Given the description of an element on the screen output the (x, y) to click on. 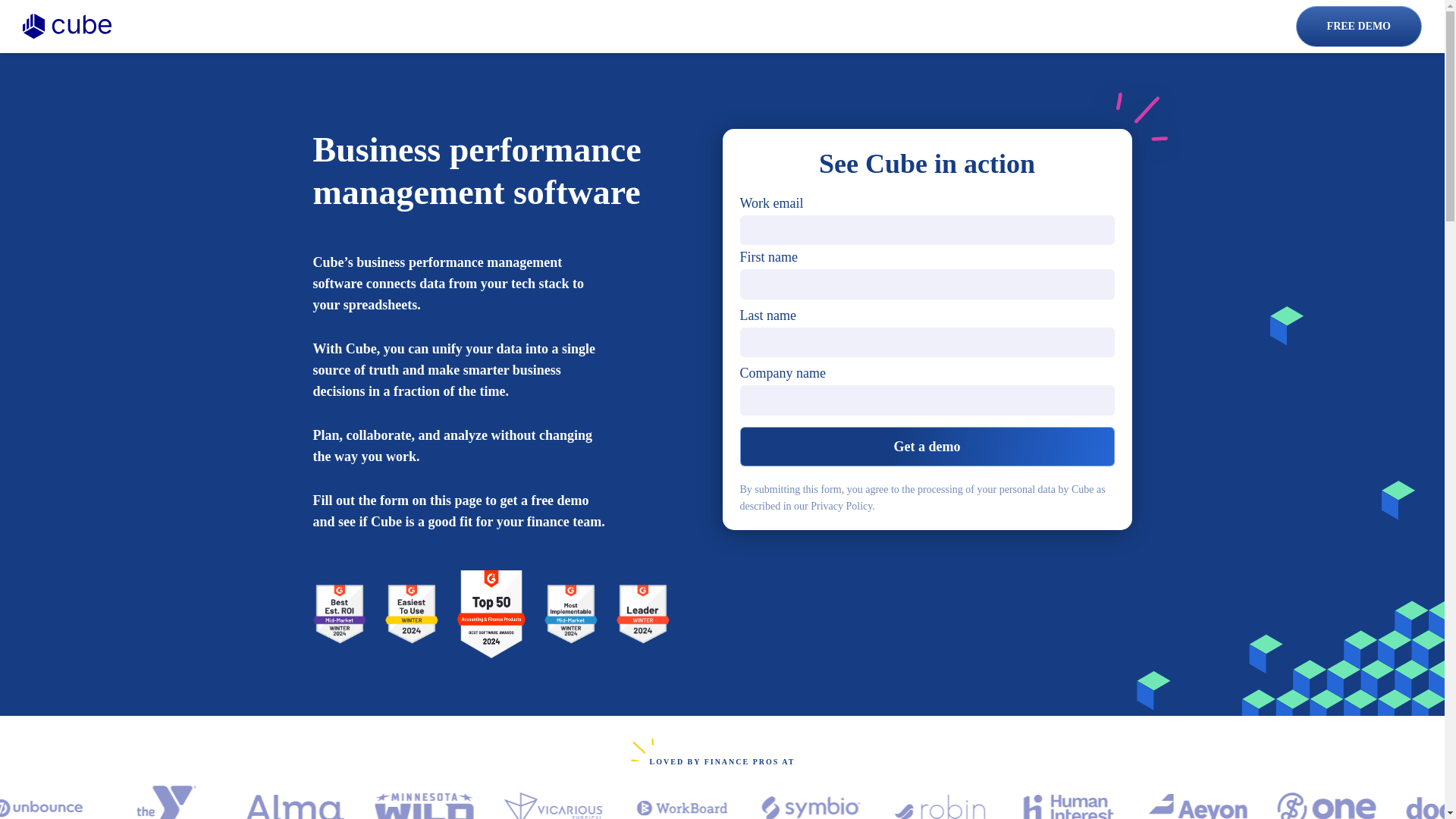
Get a demo (927, 446)
Get a demo (927, 446)
FREE DEMO (1358, 25)
